Given the description of an element on the screen output the (x, y) to click on. 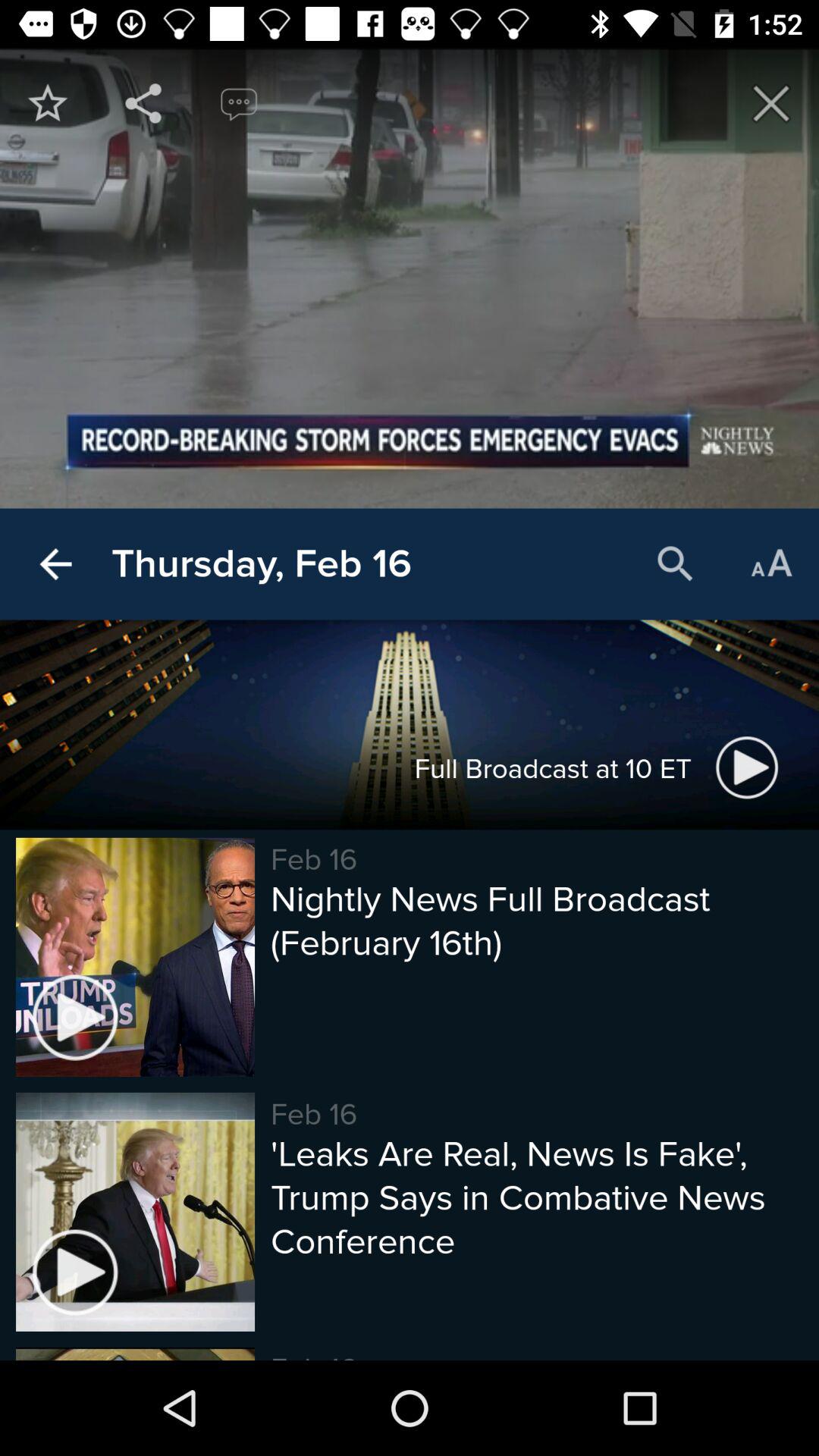
launch the thursday, feb 16 icon (261, 563)
